Given the description of an element on the screen output the (x, y) to click on. 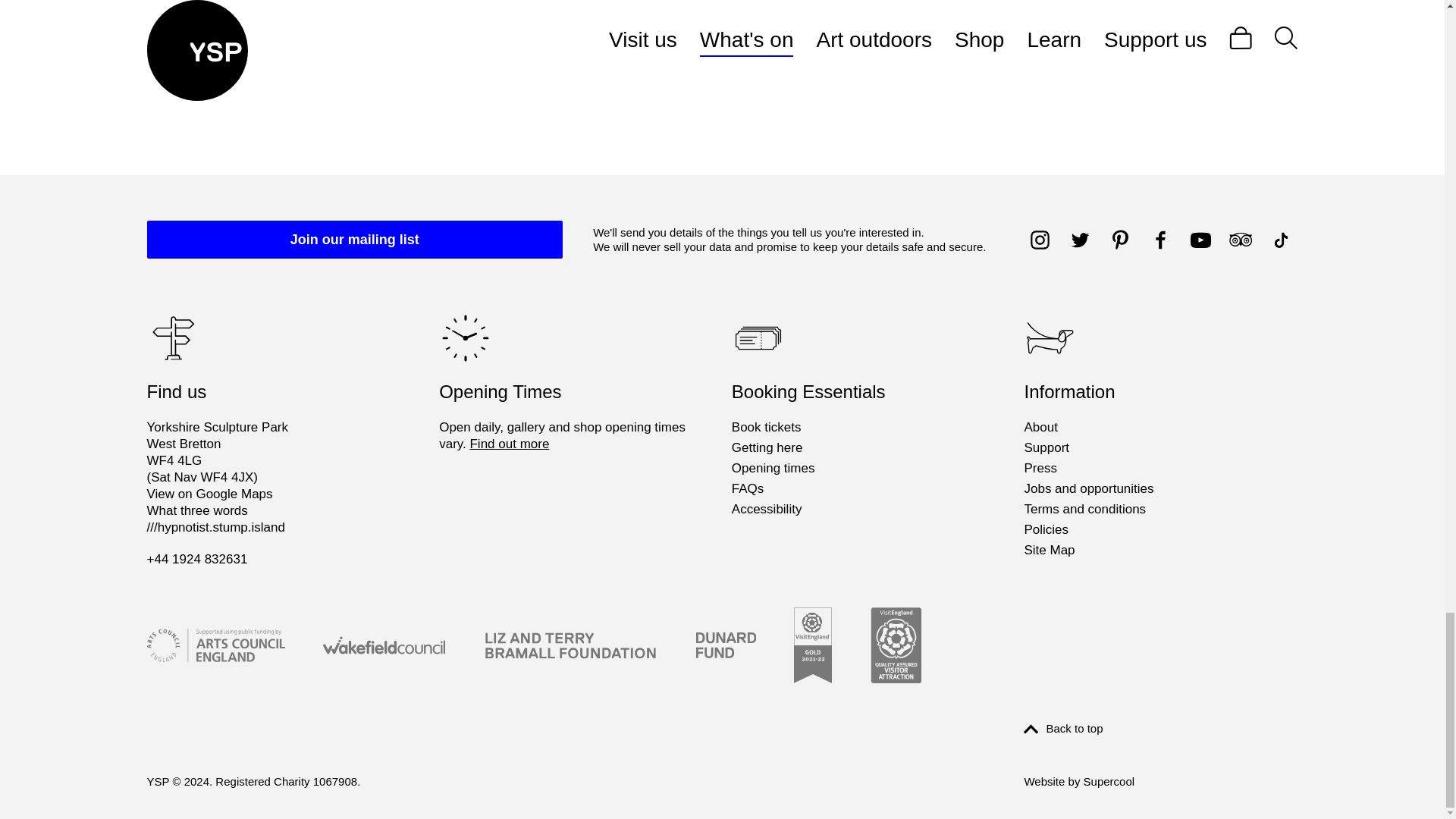
Support (1045, 447)
Terms and conditions (1084, 509)
Getting here (767, 447)
Policies (1045, 529)
View on Google Maps (210, 493)
Back to top (1062, 728)
Press (1040, 468)
FAQs (748, 488)
Site Map (1048, 550)
Jobs and opportunities (1088, 488)
